Given the description of an element on the screen output the (x, y) to click on. 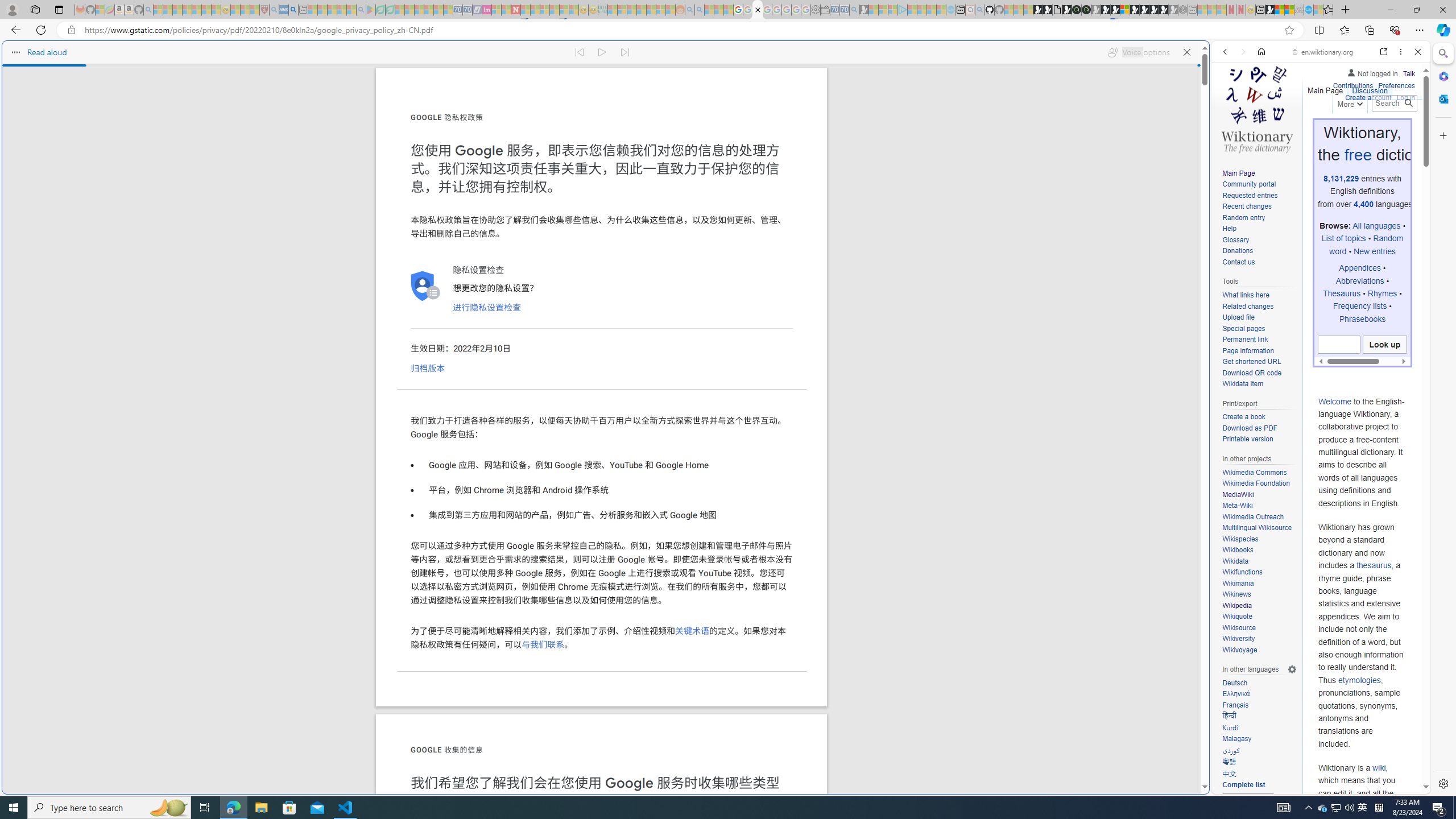
Log in (1405, 98)
Play Cave FRVR in your browser | Games from Microsoft Start (1105, 9)
Continue to read aloud (Ctrl+Shift+U) (602, 52)
Help (1228, 228)
Preferences (1403, 129)
Voice options (1138, 52)
Wikifunctions (1259, 572)
Earth has six continents not seven, radical new study claims (1288, 9)
What links here (1245, 295)
Community portal (1259, 184)
Wikipedia (1236, 605)
